Given the description of an element on the screen output the (x, y) to click on. 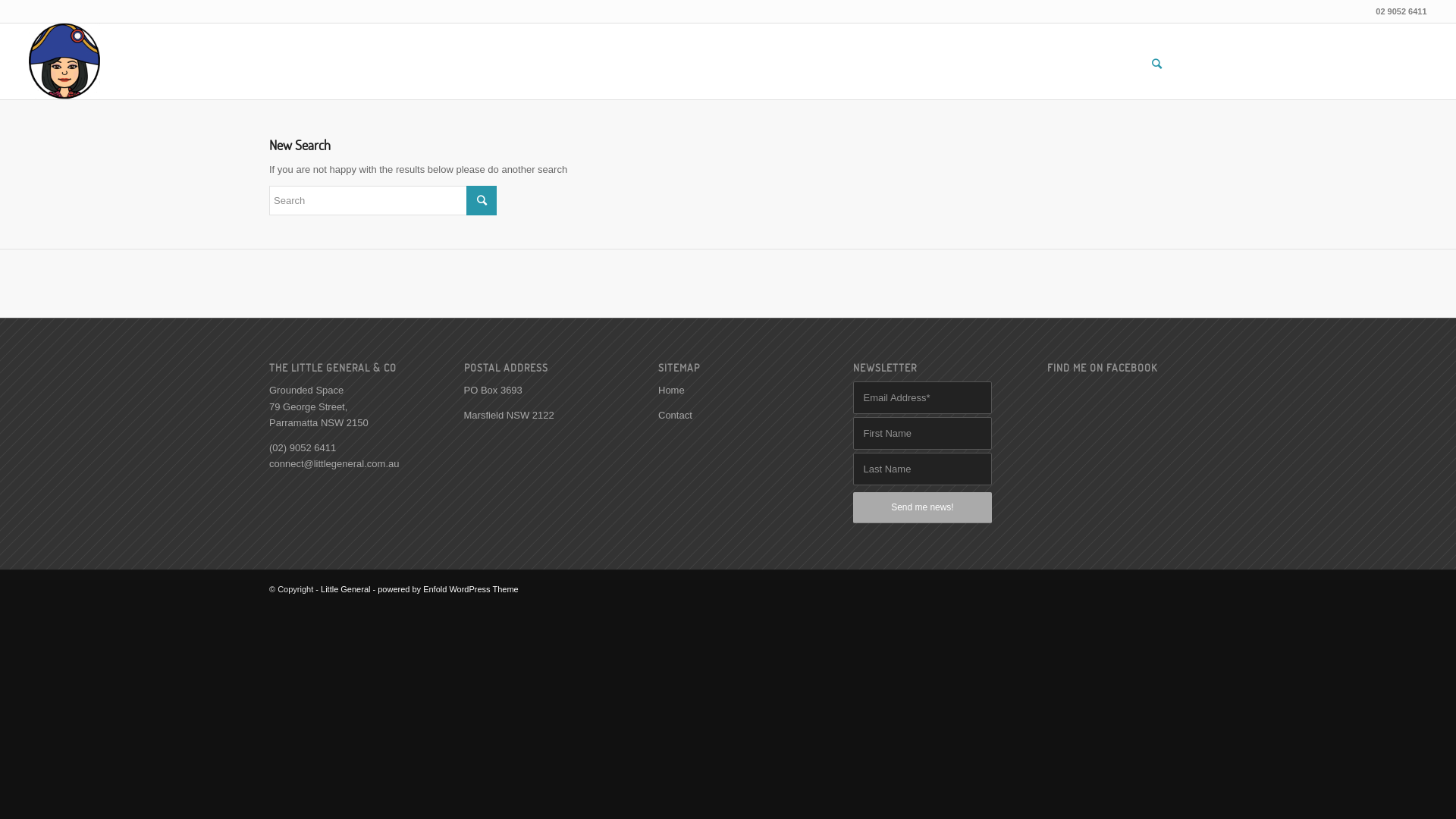
Contact Element type: text (1364, 38)
powered by Enfold WordPress Theme Element type: text (447, 588)
connect@littlegeneral.com.au Element type: text (333, 463)
Services Element type: text (1303, 38)
Send me news! Element type: text (921, 507)
Little General Element type: text (345, 588)
Contact Element type: text (675, 414)
Blog Element type: text (1408, 38)
Products Element type: text (1231, 38)
Home Element type: text (1173, 38)
Home Element type: text (671, 389)
